Given the description of an element on the screen output the (x, y) to click on. 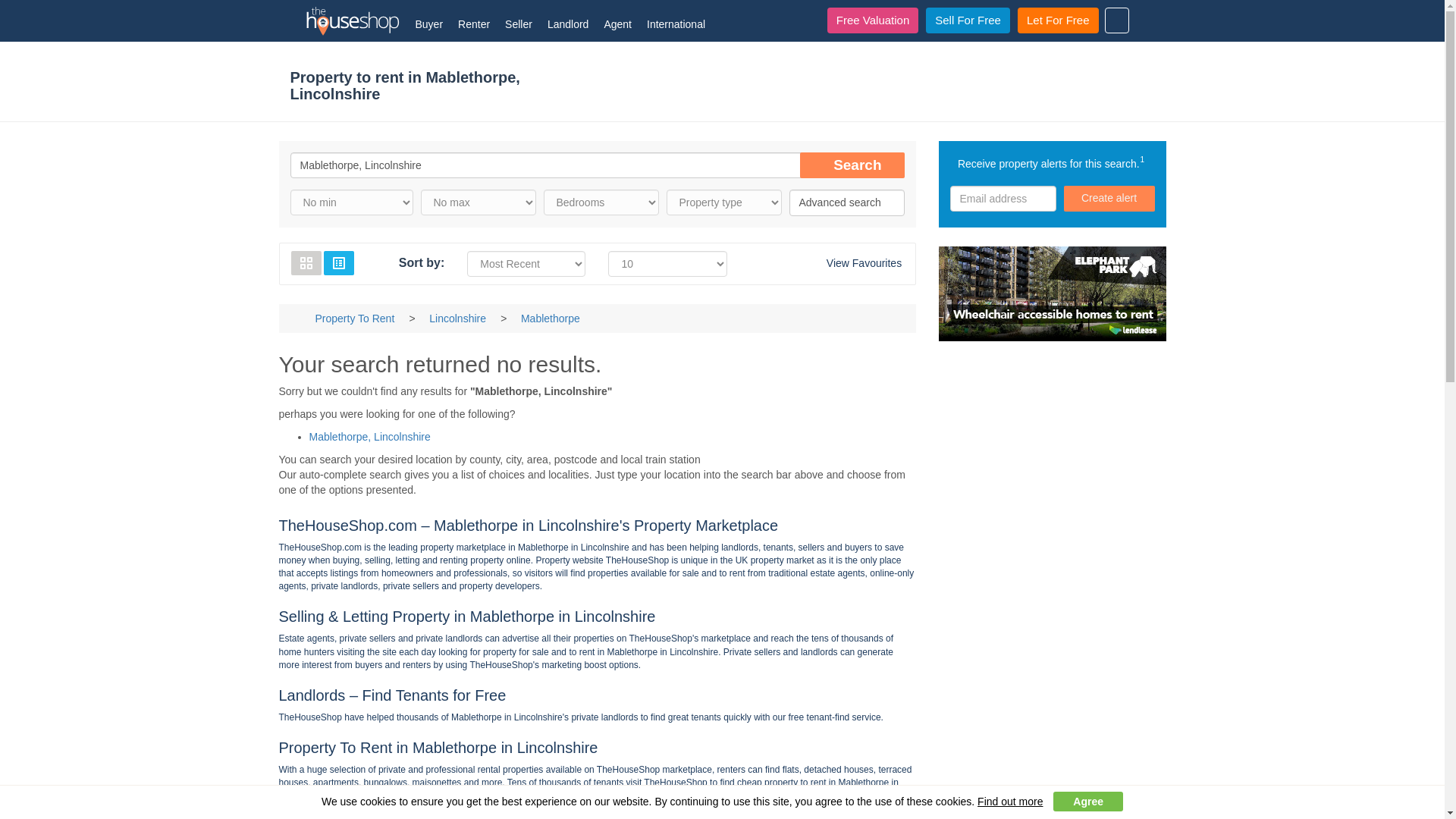
Free Valuation (872, 20)
Buyer (429, 20)
Thehouseshop.com cookie policy (1009, 801)
Switch view to grid (306, 262)
Renter (473, 20)
Thehouseshop.com (343, 20)
Mablethorpe, Lincolnshire (596, 165)
Switch view to list (338, 262)
Seller (518, 20)
Sell For Free (968, 20)
